Given the description of an element on the screen output the (x, y) to click on. 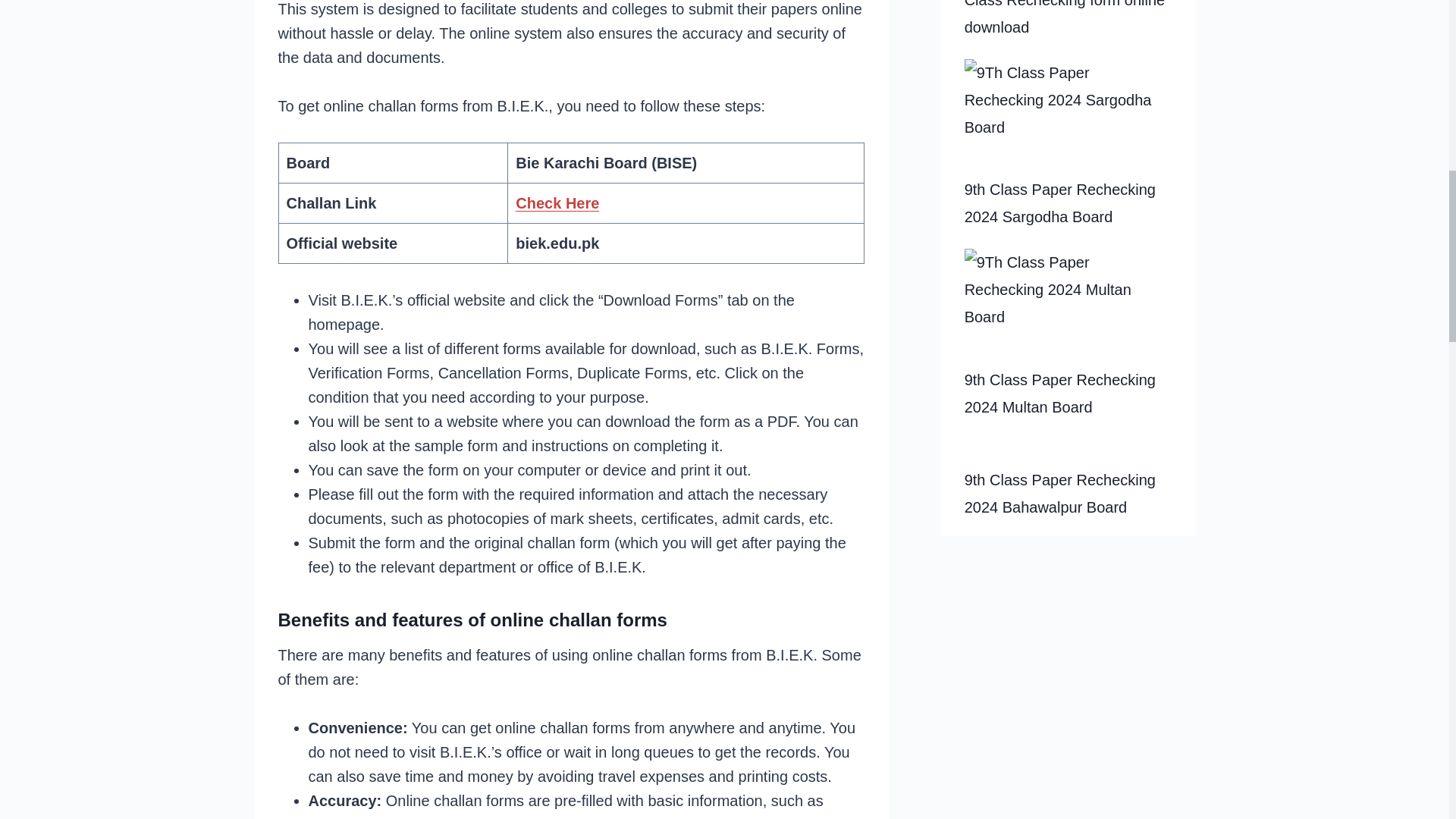
9Th Class Paper Rechecking 2024 Multan Board 4 (1068, 307)
9Th Class Paper Rechecking 2024 Sargodha Board 3 (1068, 117)
Check Here (556, 202)
